Given the description of an element on the screen output the (x, y) to click on. 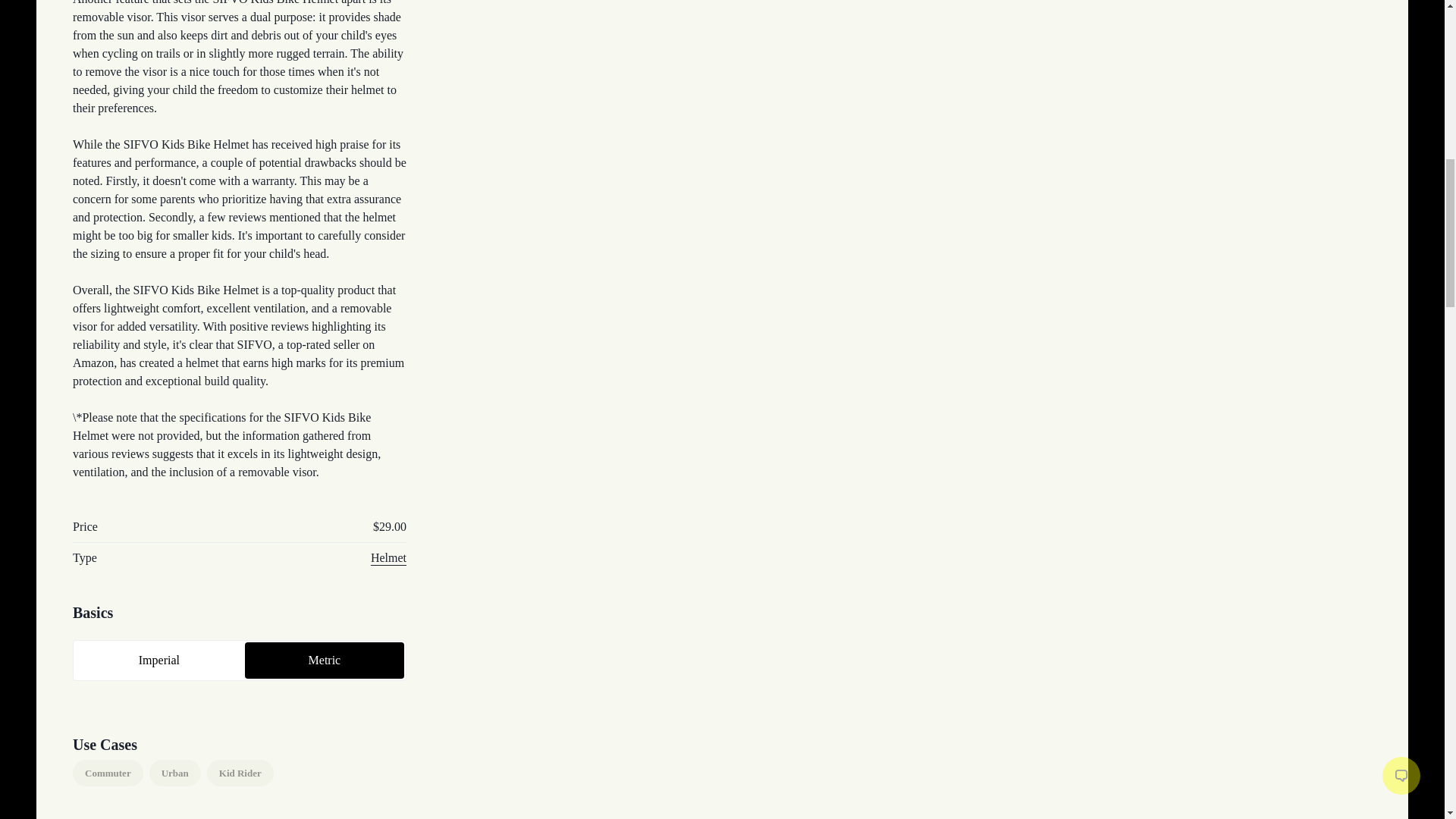
Helmet (388, 557)
Commuter (107, 773)
Kid Rider (239, 773)
Urban (174, 773)
